Given the description of an element on the screen output the (x, y) to click on. 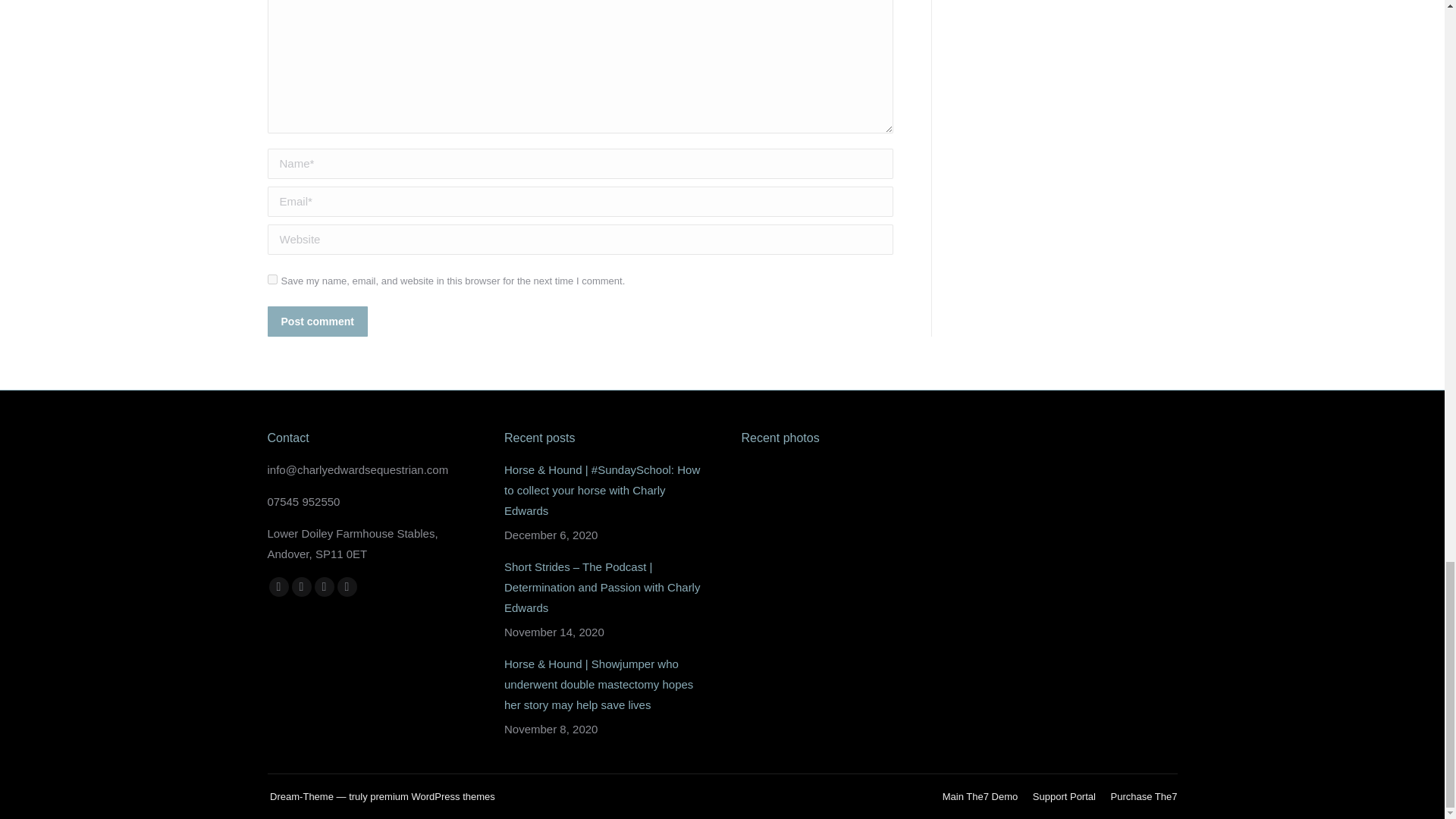
yes (271, 279)
